Given the description of an element on the screen output the (x, y) to click on. 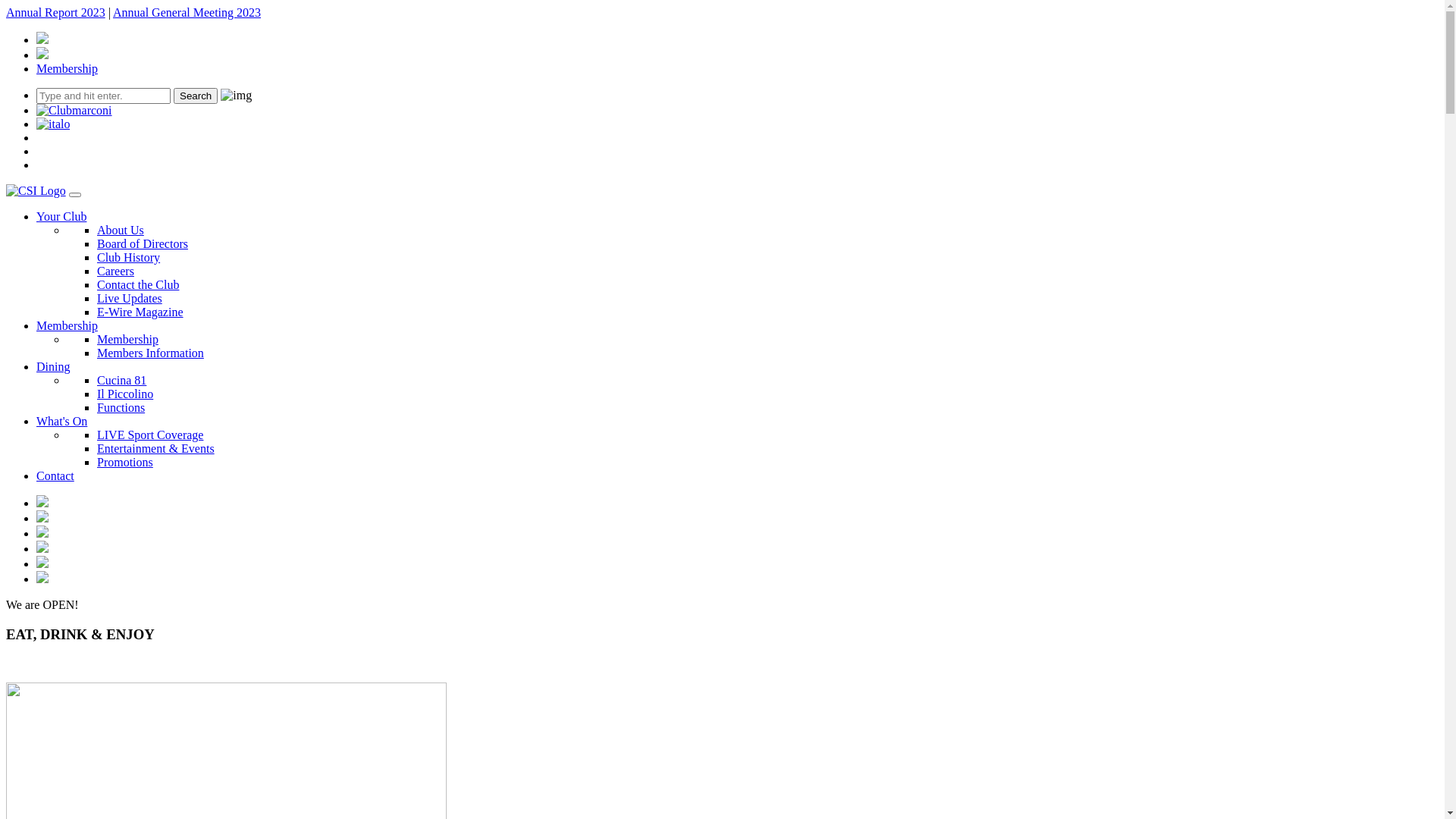
Careers Element type: text (115, 270)
Contact Element type: text (55, 475)
Promotions Element type: text (125, 461)
Your Club Element type: text (61, 216)
Italo Element type: hover (52, 123)
Board of Directors Element type: text (142, 243)
Search Element type: text (195, 95)
Functions Element type: text (120, 407)
LIVE Sport Coverage Element type: text (150, 434)
Membership Element type: text (66, 325)
Members Information Element type: text (150, 352)
About Us Element type: text (120, 229)
Contact the Club Element type: text (137, 284)
Annual Report 2023 Element type: text (55, 12)
Club History Element type: text (128, 257)
Annual General Meeting 2023 Element type: text (186, 12)
Entertainment & Events Element type: text (155, 448)
Cucina 81 Element type: text (121, 379)
Live Updates Element type: text (129, 297)
Clubmarconi Element type: hover (74, 109)
Membership Element type: text (66, 68)
Dining Element type: text (52, 366)
What's On Element type: text (61, 420)
E-Wire Magazine Element type: text (140, 311)
Il Piccolino Element type: text (125, 393)
Membership Element type: text (127, 338)
